Given the description of an element on the screen output the (x, y) to click on. 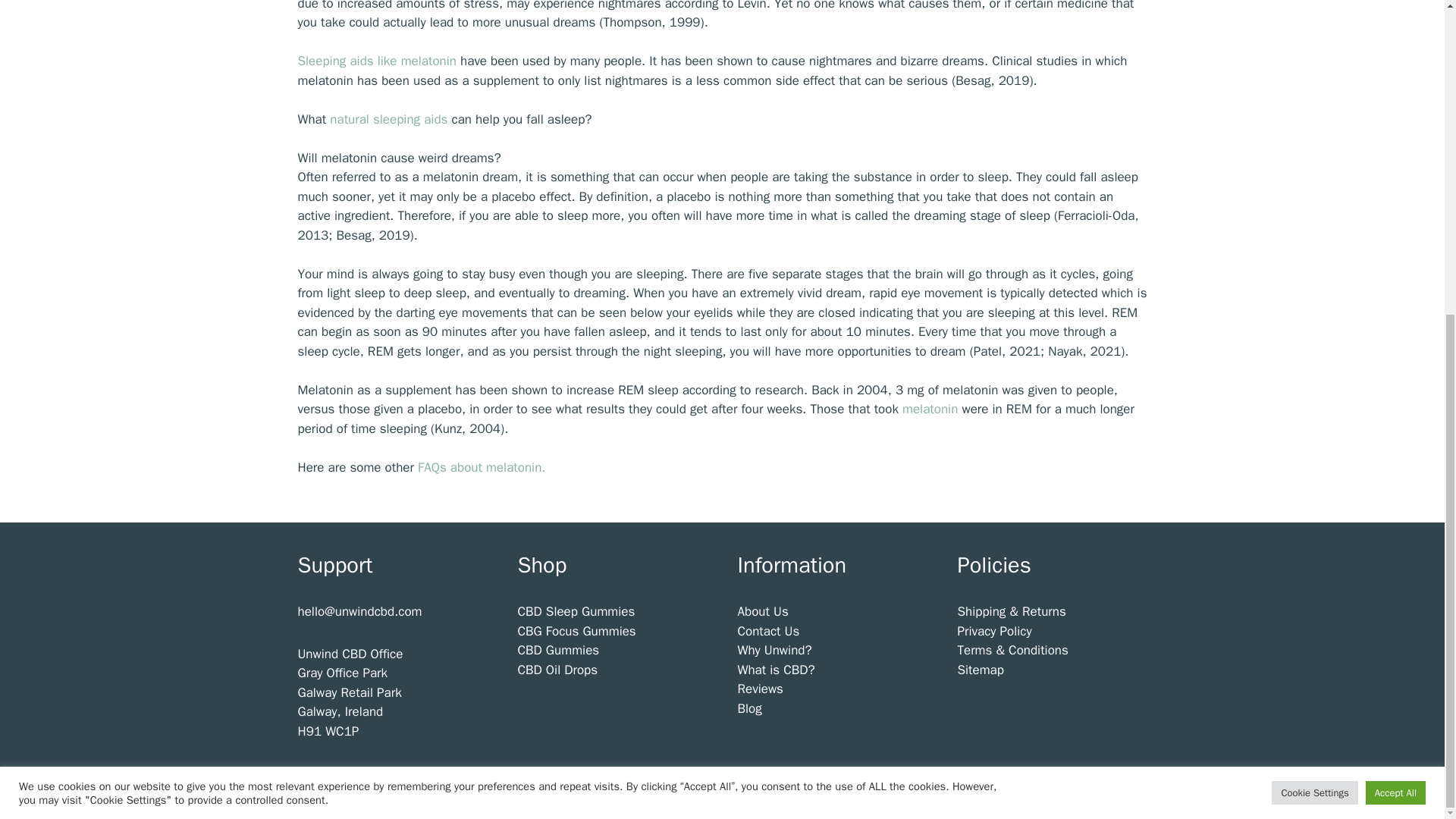
Sleeping aids like melatonin  (378, 60)
FAQs about melatonin. (480, 467)
Blog (748, 708)
CBG Focus Gummies (575, 631)
CBD Gummies (557, 650)
natural sleeping aids (388, 119)
CBD Sleep Gummies (575, 611)
melatonin  (931, 408)
CBD Oil Drops (556, 669)
What is CBD? (774, 669)
